Given the description of an element on the screen output the (x, y) to click on. 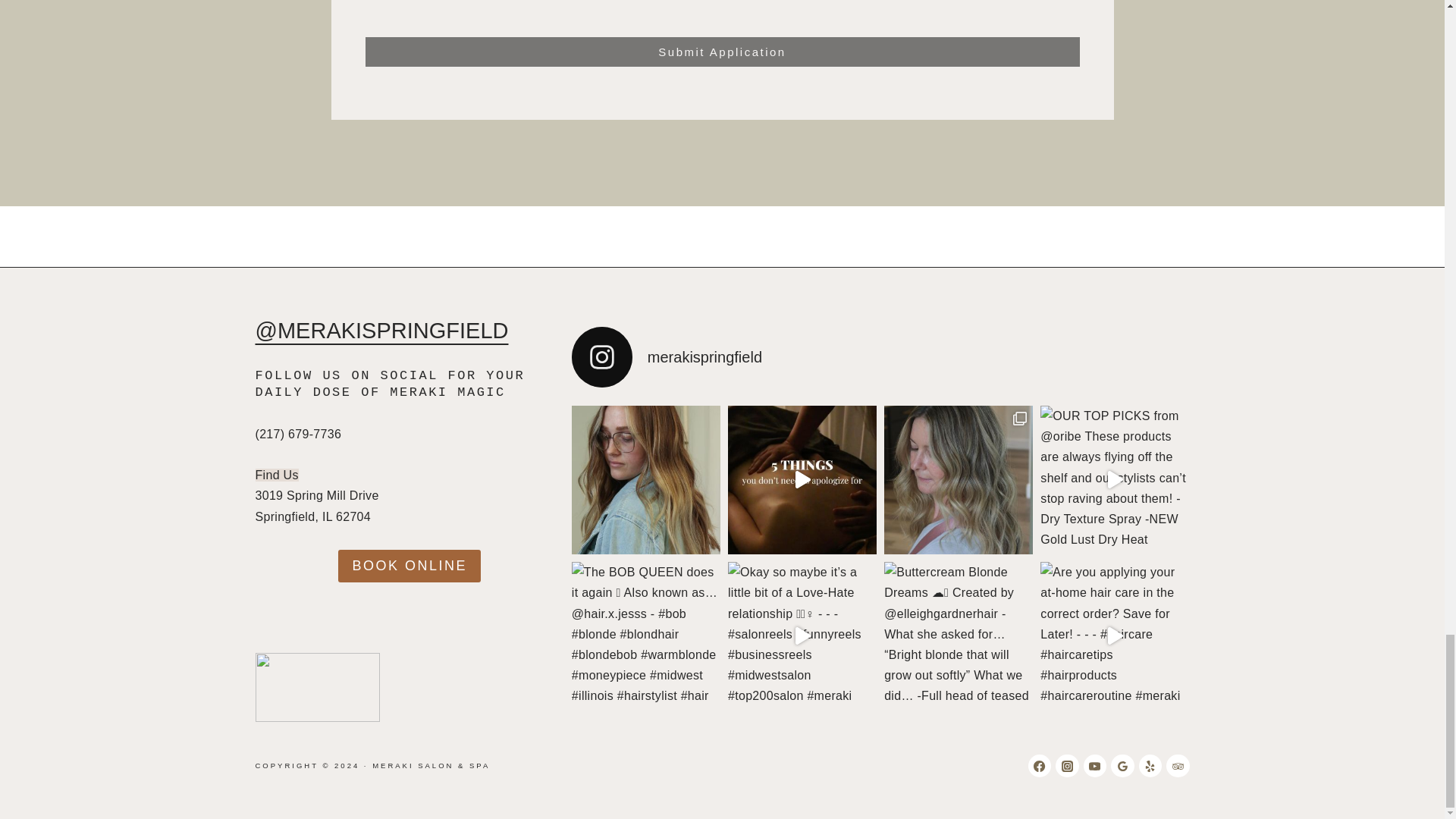
Find Us (276, 474)
merakispringfield (880, 356)
BOOK ONLINE (408, 565)
Submit Application (722, 51)
